Given the description of an element on the screen output the (x, y) to click on. 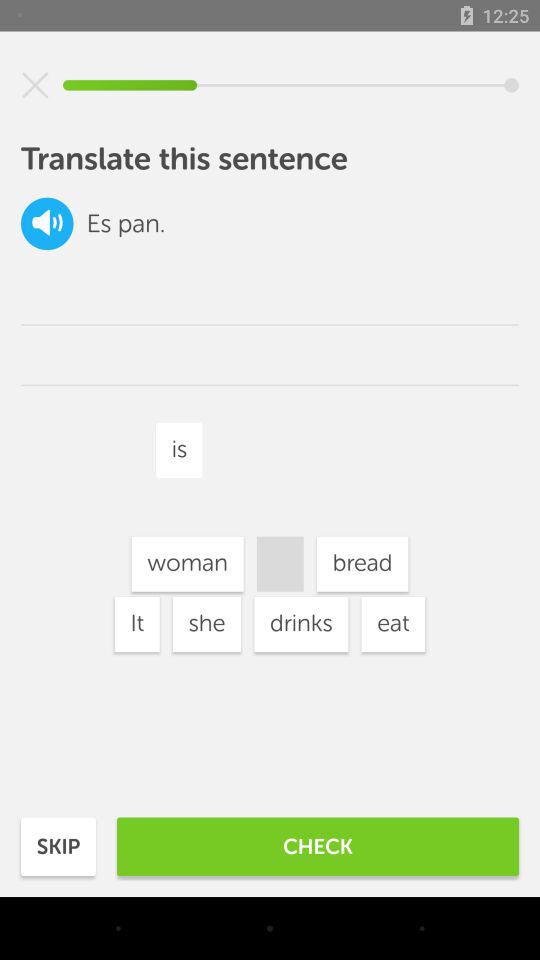
flip until the drinks item (301, 624)
